Given the description of an element on the screen output the (x, y) to click on. 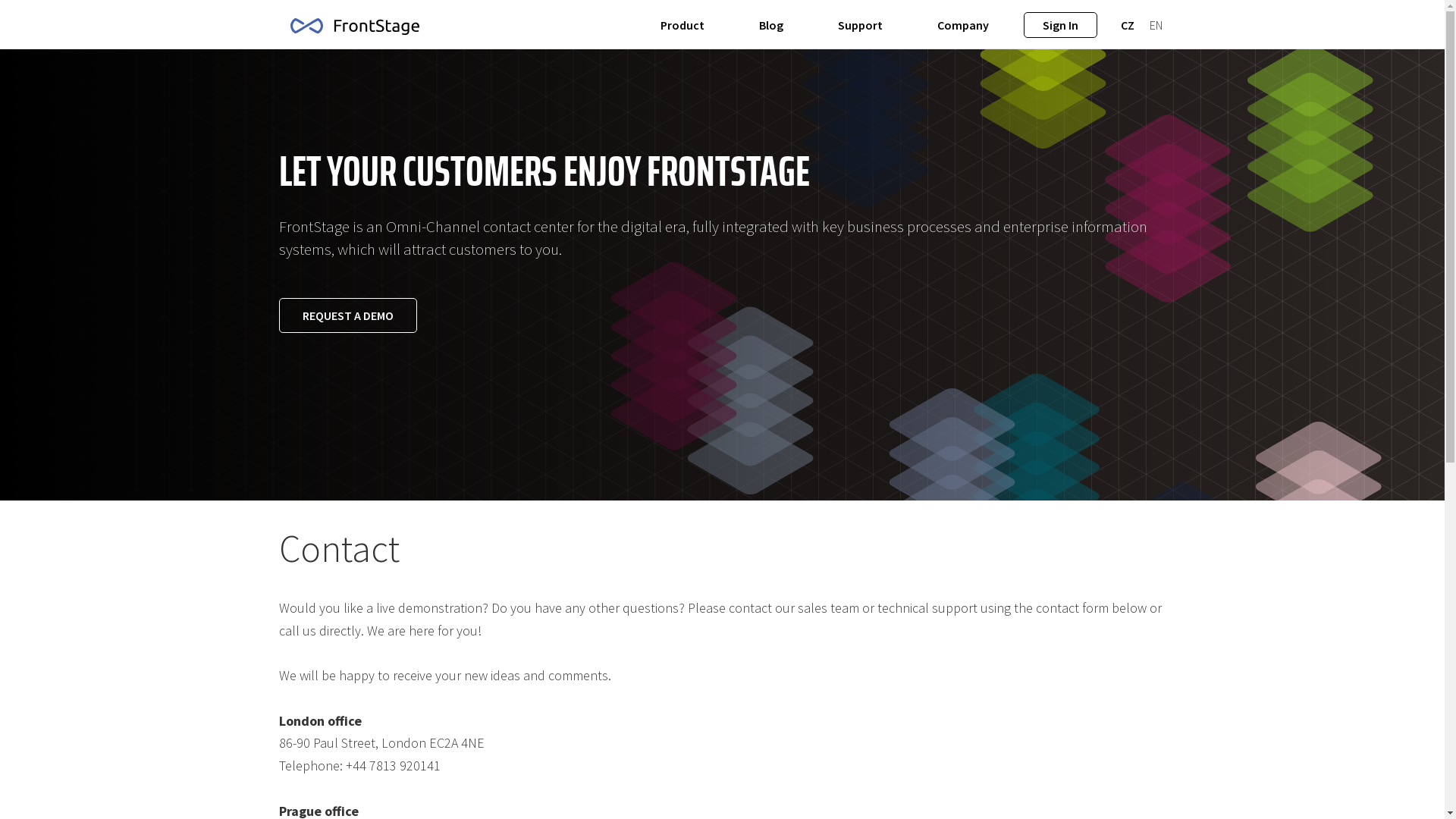
Support Element type: text (859, 24)
Sign In Element type: text (1060, 24)
Product Element type: text (681, 24)
Blog Element type: text (770, 24)
Company Element type: text (962, 24)
CZ Element type: text (1127, 24)
REQUEST A DEMO Element type: text (348, 315)
